Given the description of an element on the screen output the (x, y) to click on. 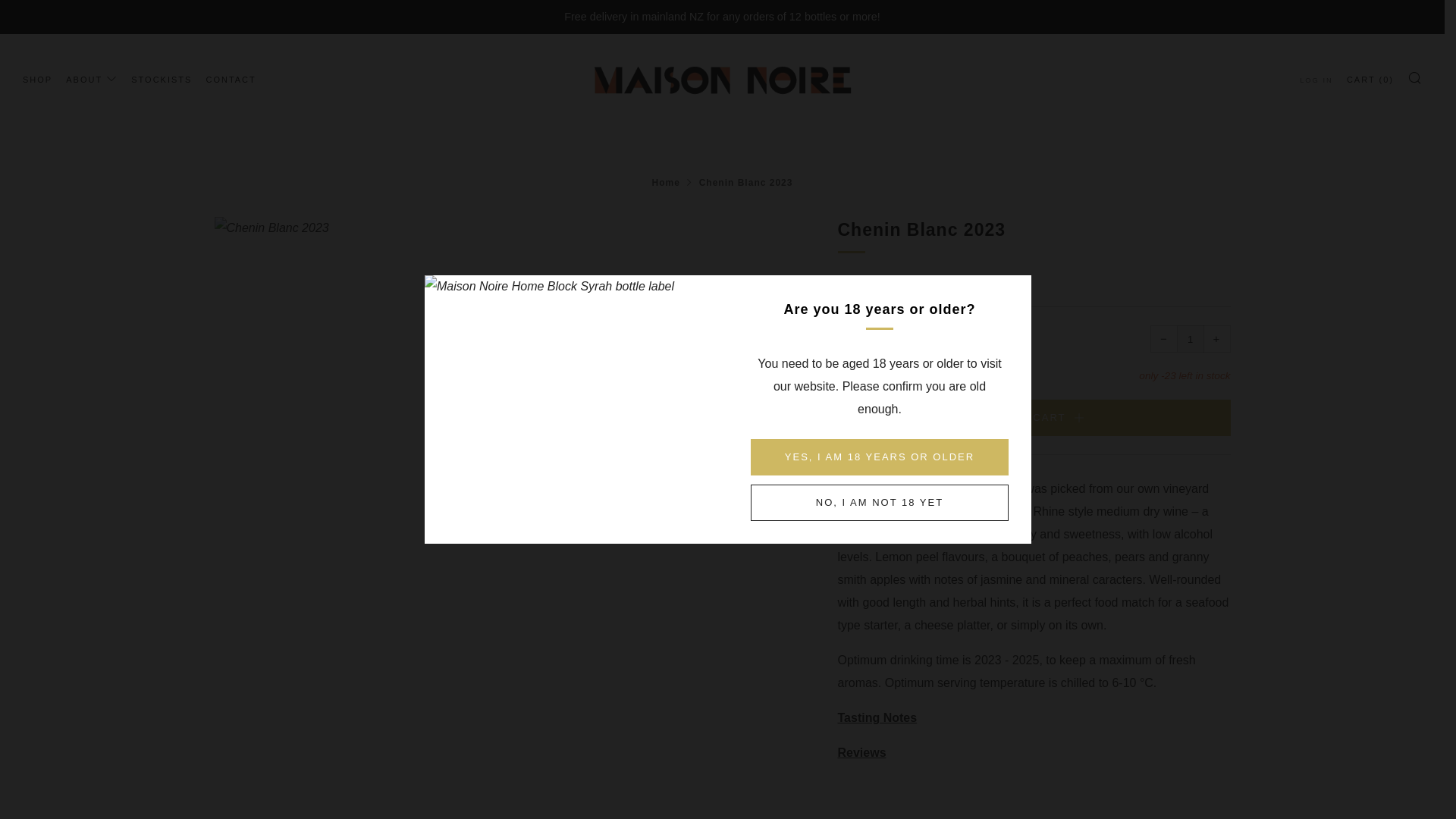
ADD TO CART (1033, 417)
ABOUT (91, 78)
Reviews (861, 752)
YES, I AM 18 YEARS OR OLDER (880, 456)
1 (1190, 338)
Home (665, 182)
CONTACT (230, 78)
SHOP (37, 78)
Chenin Blanc 2023 Tasting Notes (877, 717)
Reviews (861, 752)
LOG IN (1316, 79)
STOCKISTS (161, 78)
SEARCH (1414, 76)
Home (665, 182)
NO, I AM NOT 18 YET (880, 502)
